Given the description of an element on the screen output the (x, y) to click on. 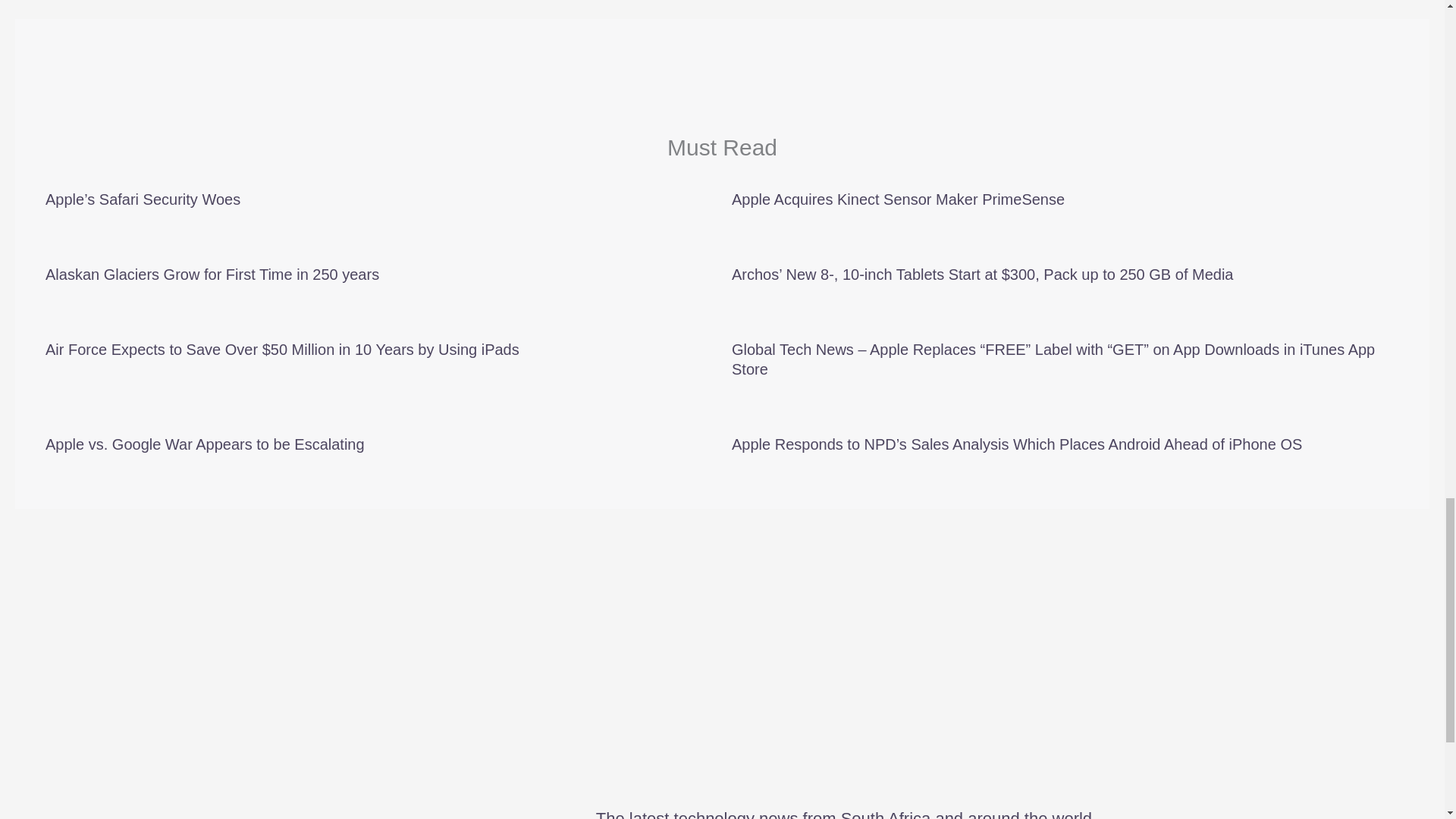
Apple Acquires Kinect Sensor Maker PrimeSense (898, 199)
Apple vs. Google War Appears to be Escalating (205, 443)
Advertisement (721, 555)
Alaskan Glaciers Grow for First Time in 250 years (211, 274)
Advertisement (722, 90)
Advertisement (721, 693)
